Given the description of an element on the screen output the (x, y) to click on. 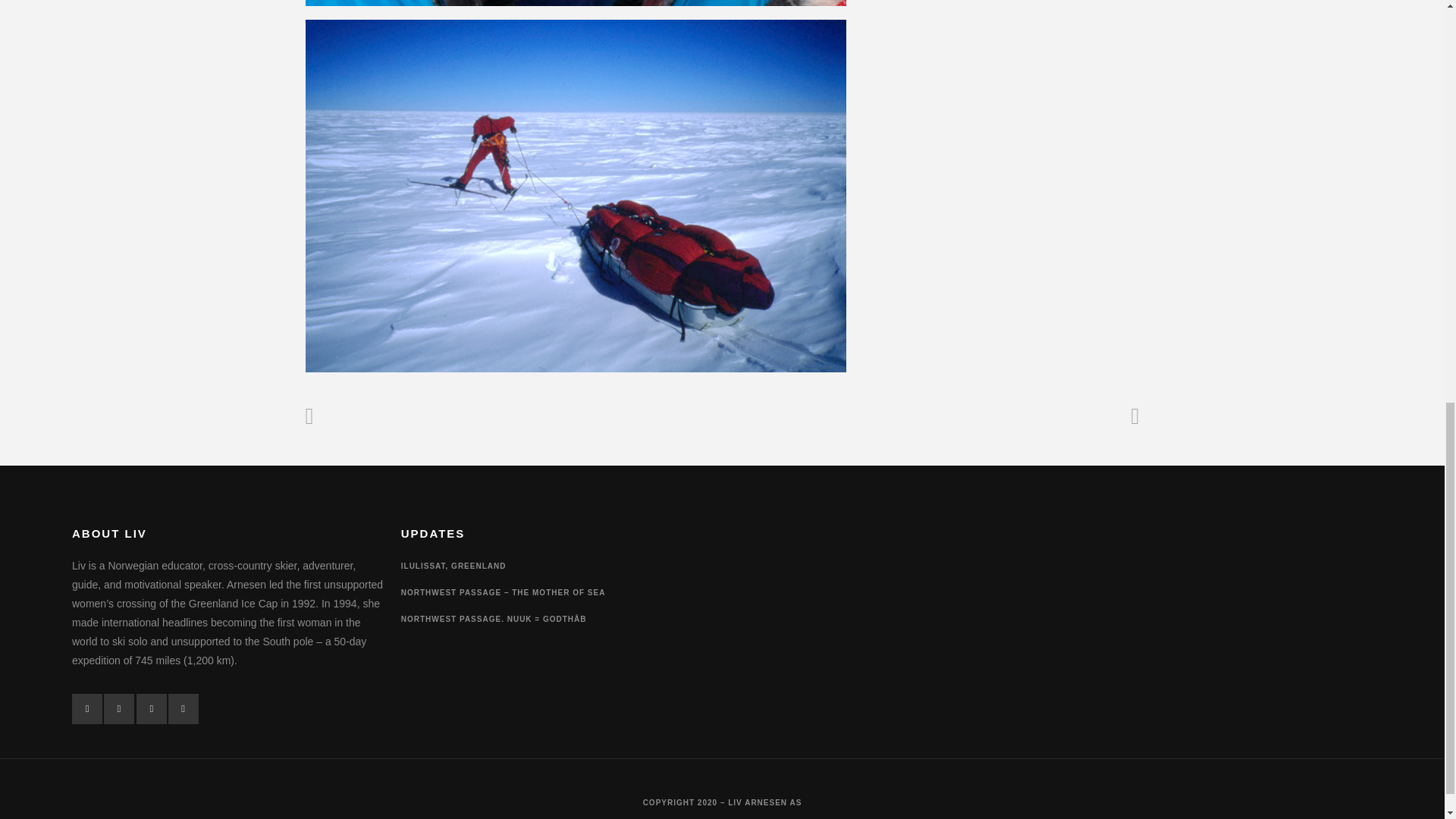
ILULISSAT, GREENLAND (453, 565)
